Given the description of an element on the screen output the (x, y) to click on. 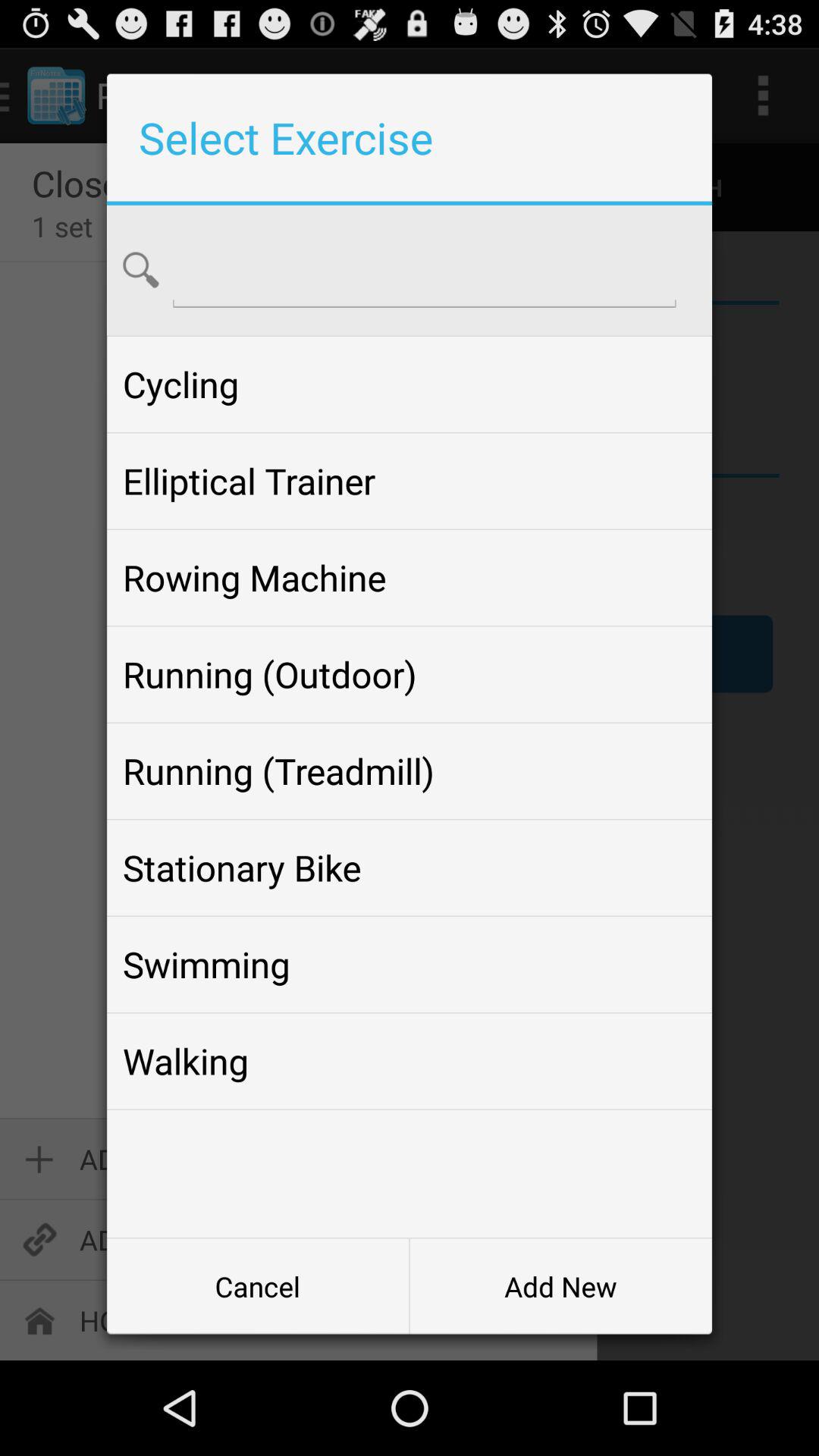
swipe until the rowing machine icon (409, 577)
